Given the description of an element on the screen output the (x, y) to click on. 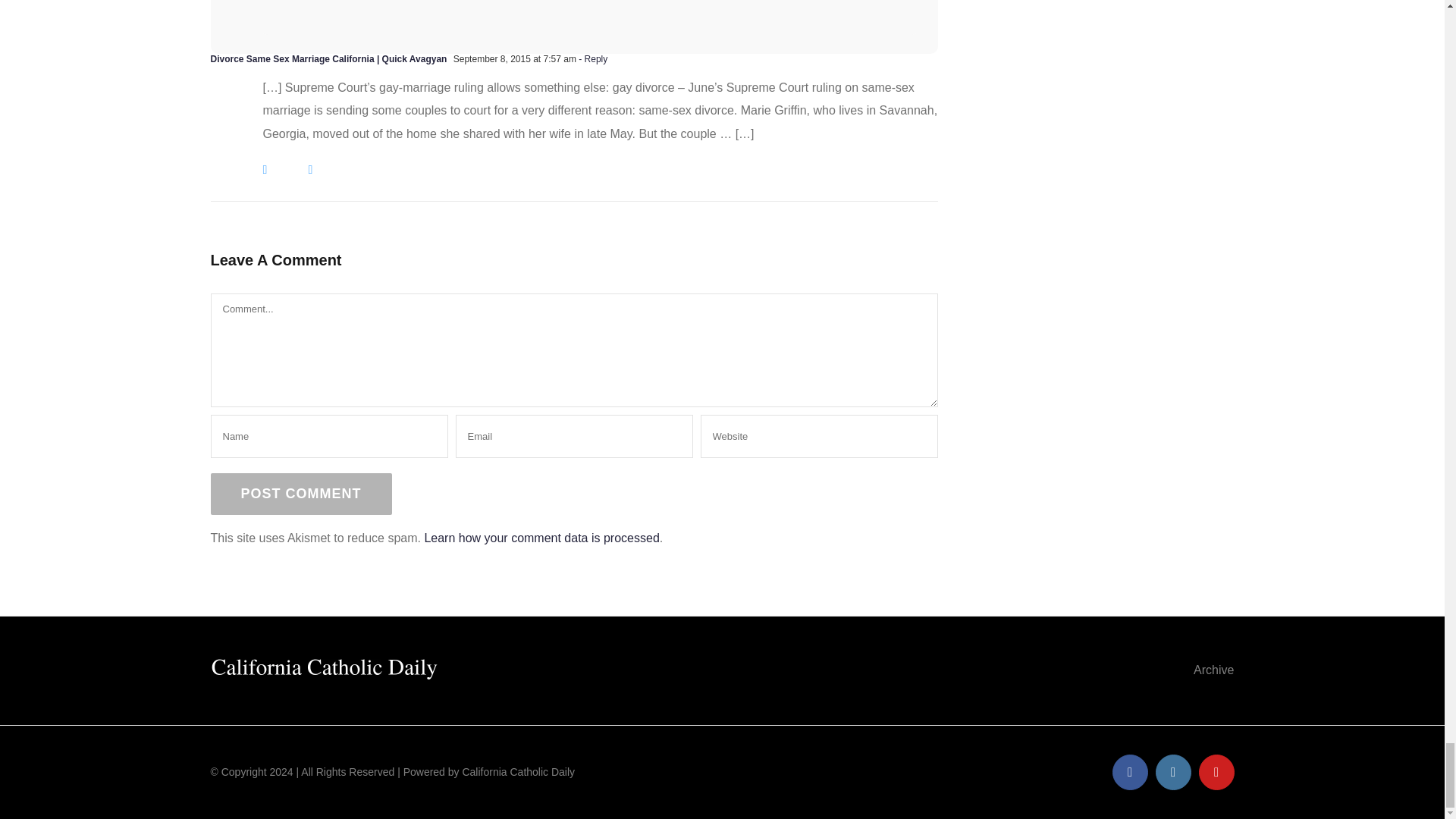
Post Comment (301, 494)
